Given the description of an element on the screen output the (x, y) to click on. 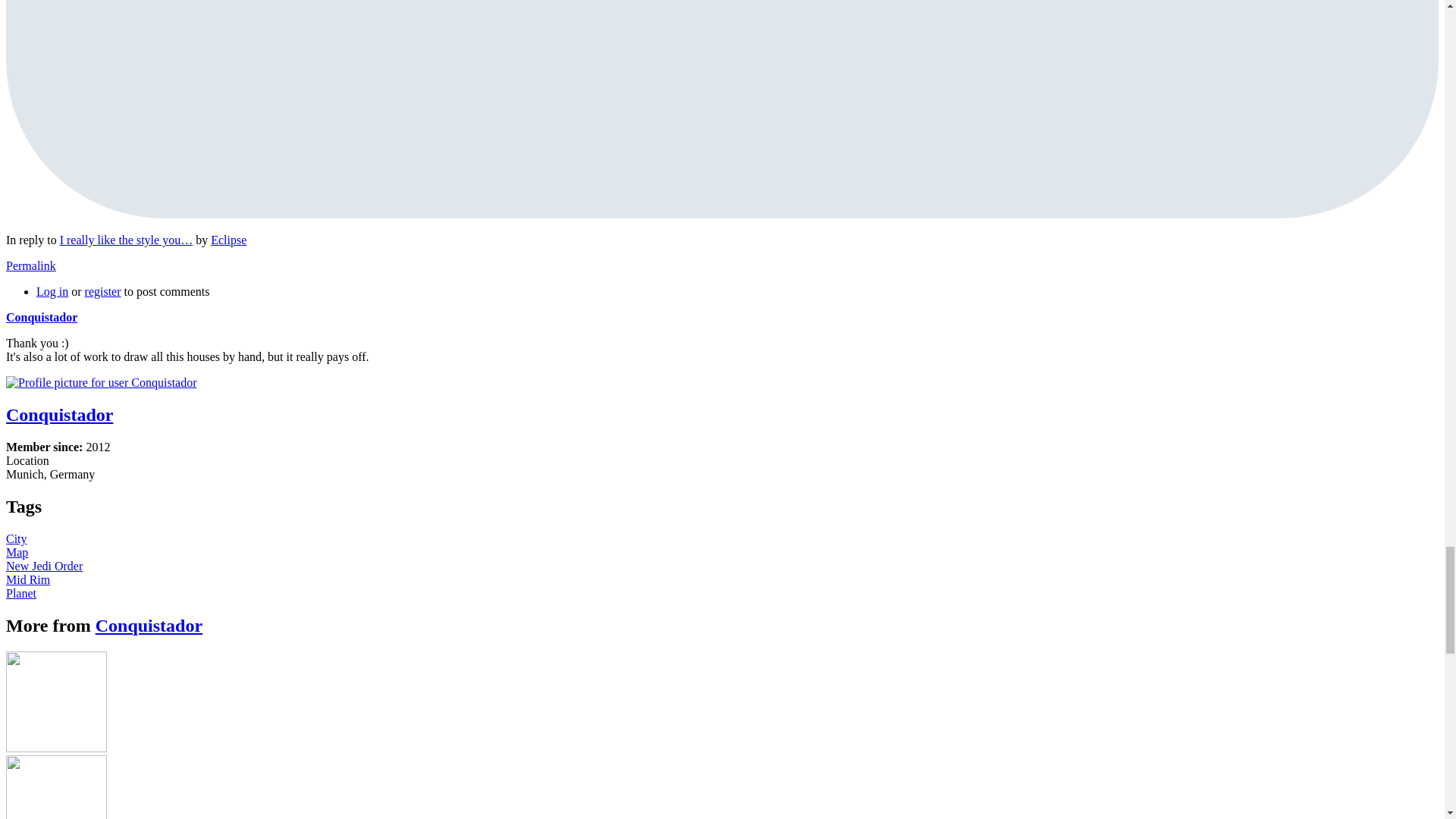
Map (16, 552)
View user profile. (41, 317)
Mid Rim (27, 579)
Eclipse (228, 239)
Log in (52, 291)
View user profile. (149, 625)
Planet (20, 593)
View user profile. (228, 239)
Permalink (30, 265)
New Jedi Order (43, 565)
Conquistador (41, 317)
register (102, 291)
City (16, 538)
Conquistador (149, 625)
